Given the description of an element on the screen output the (x, y) to click on. 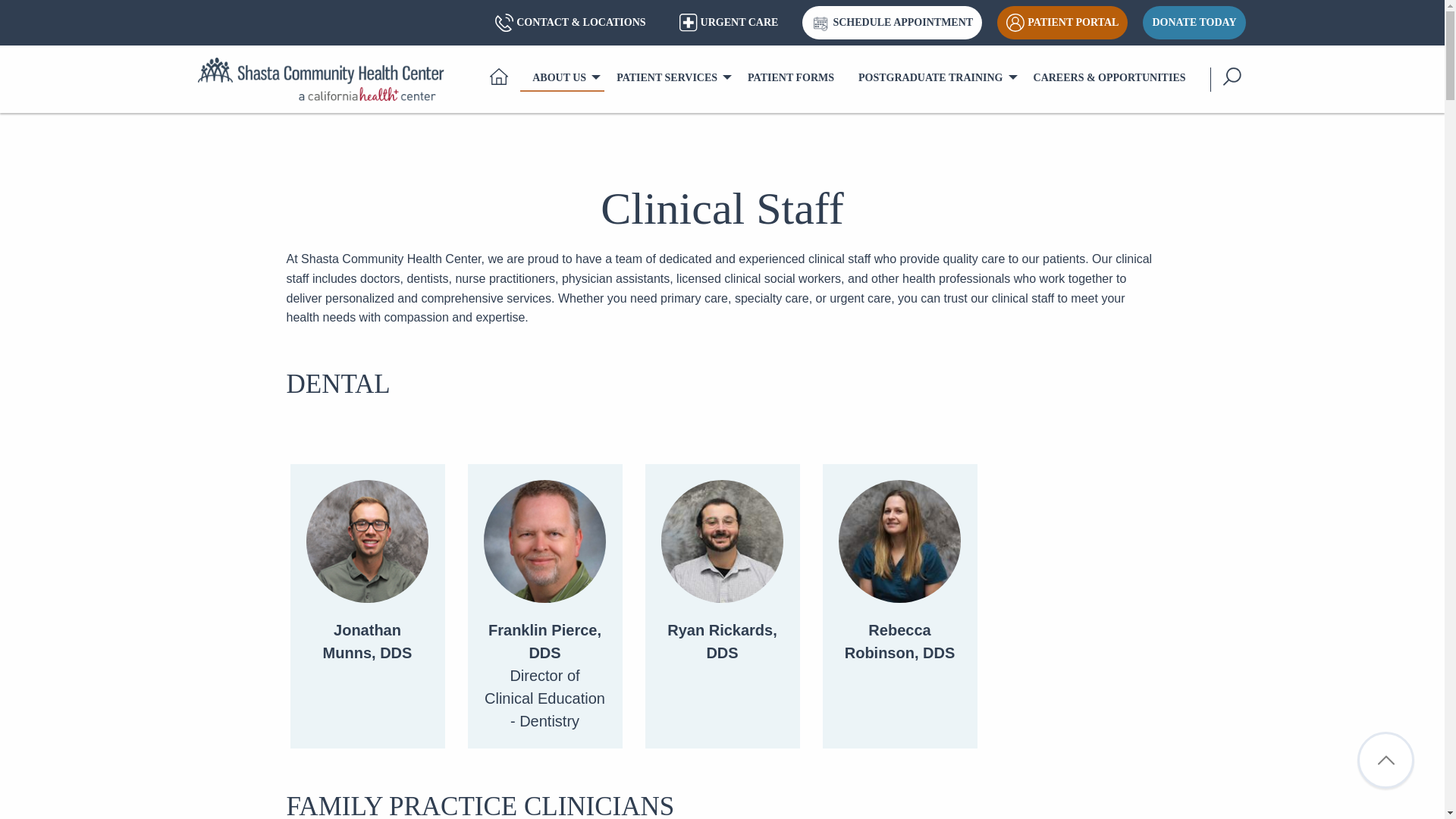
DONATE TODAY (1193, 22)
PATIENT FORMS (790, 77)
SEARCH (1231, 79)
SCHEDULE APPOINTMENT (891, 22)
PATIENT SERVICES (669, 77)
HOME (498, 79)
URGENT CARE (728, 22)
POSTGRADUATE TRAINING (932, 77)
PATIENT PORTAL (1061, 22)
ABOUT US (561, 77)
